Given the description of an element on the screen output the (x, y) to click on. 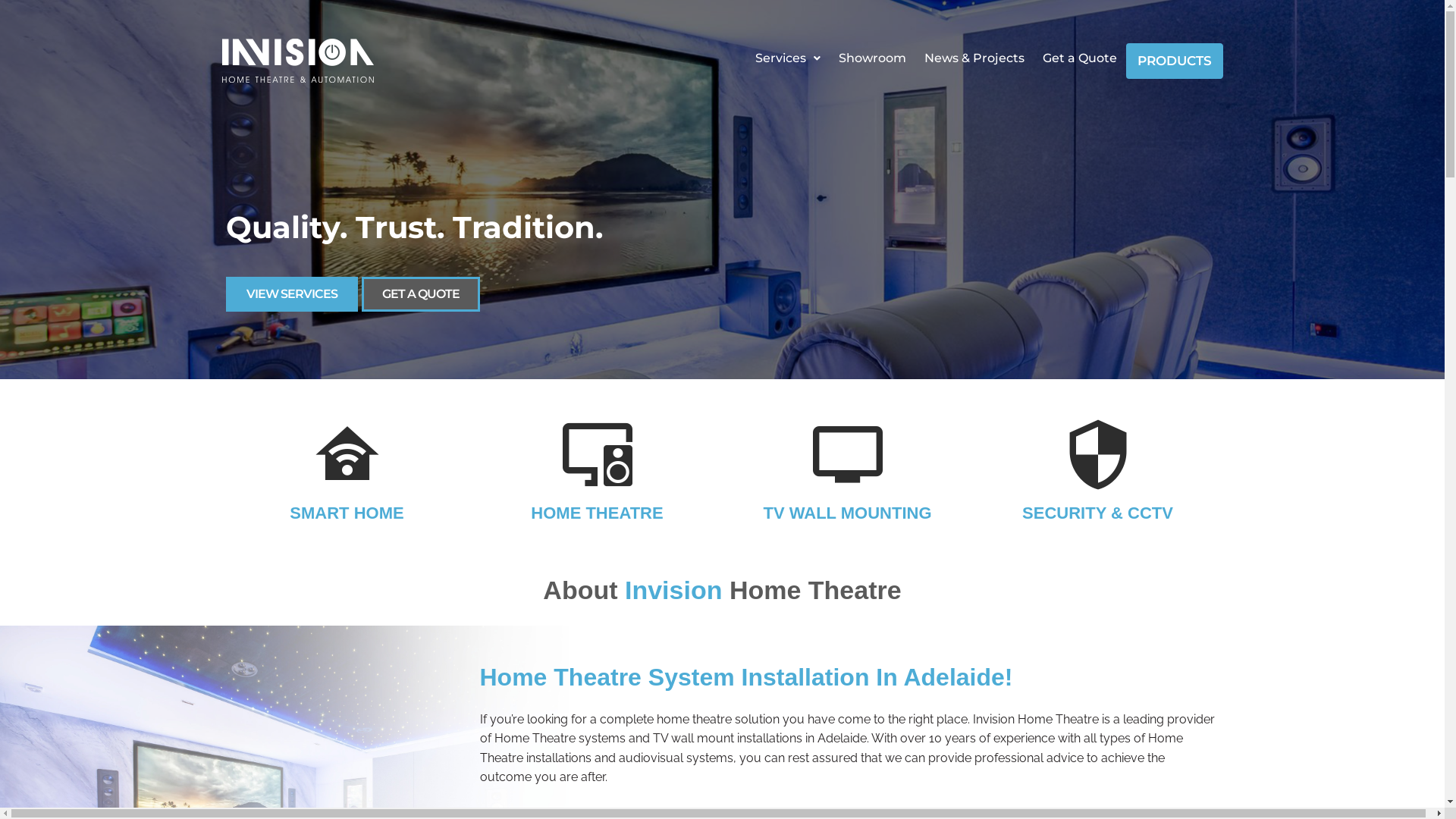
SECURITY & CCTV Element type: text (1097, 512)
GET A QUOTE Element type: text (419, 293)
Services Element type: text (787, 57)
SMART HOME Element type: text (346, 512)
TV WALL MOUNTING Element type: text (846, 512)
News & Projects Element type: text (973, 57)
HOME THEATRE Element type: text (596, 512)
Get a Quote Element type: text (1078, 57)
Showroom Element type: text (872, 57)
VIEW SERVICES Element type: text (291, 293)
PRODUCTS Element type: text (1173, 60)
